Given the description of an element on the screen output the (x, y) to click on. 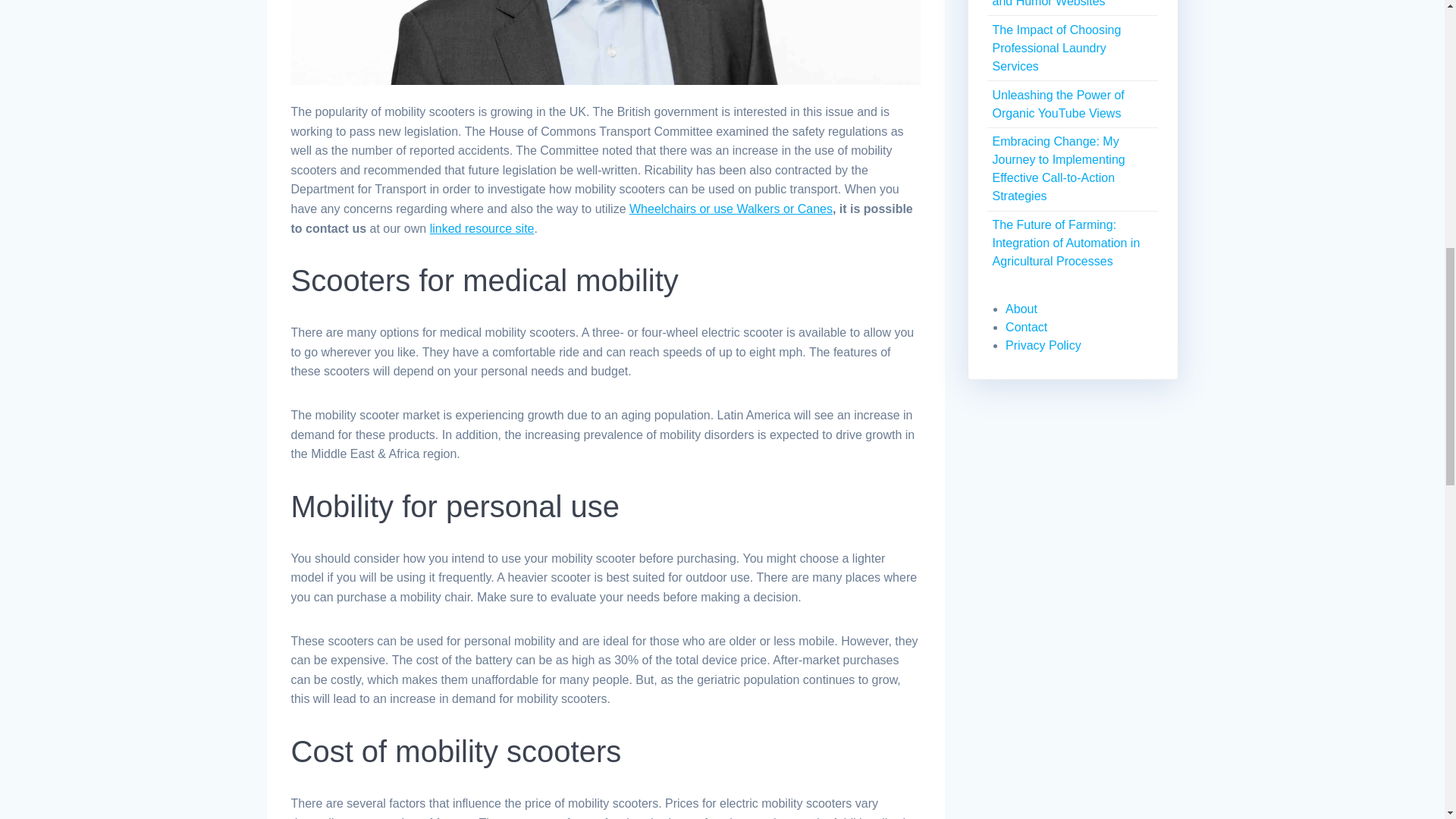
Wheelchairs or use Walkers or Canes (730, 208)
linked resource site (481, 228)
